Given the description of an element on the screen output the (x, y) to click on. 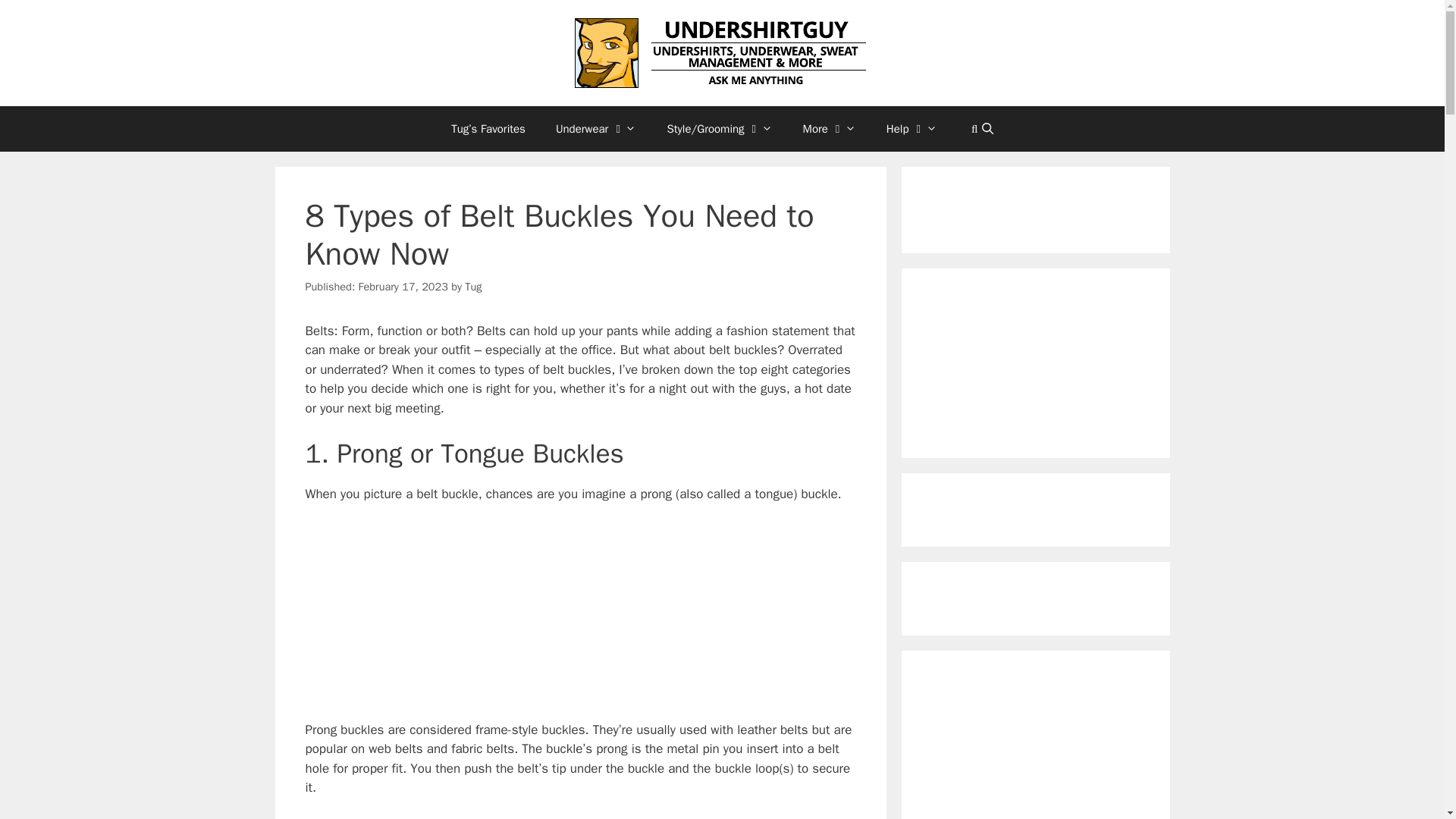
Underwear (596, 128)
View all posts by Tug (472, 286)
More (828, 128)
Help (911, 128)
Tug (472, 286)
